Given the description of an element on the screen output the (x, y) to click on. 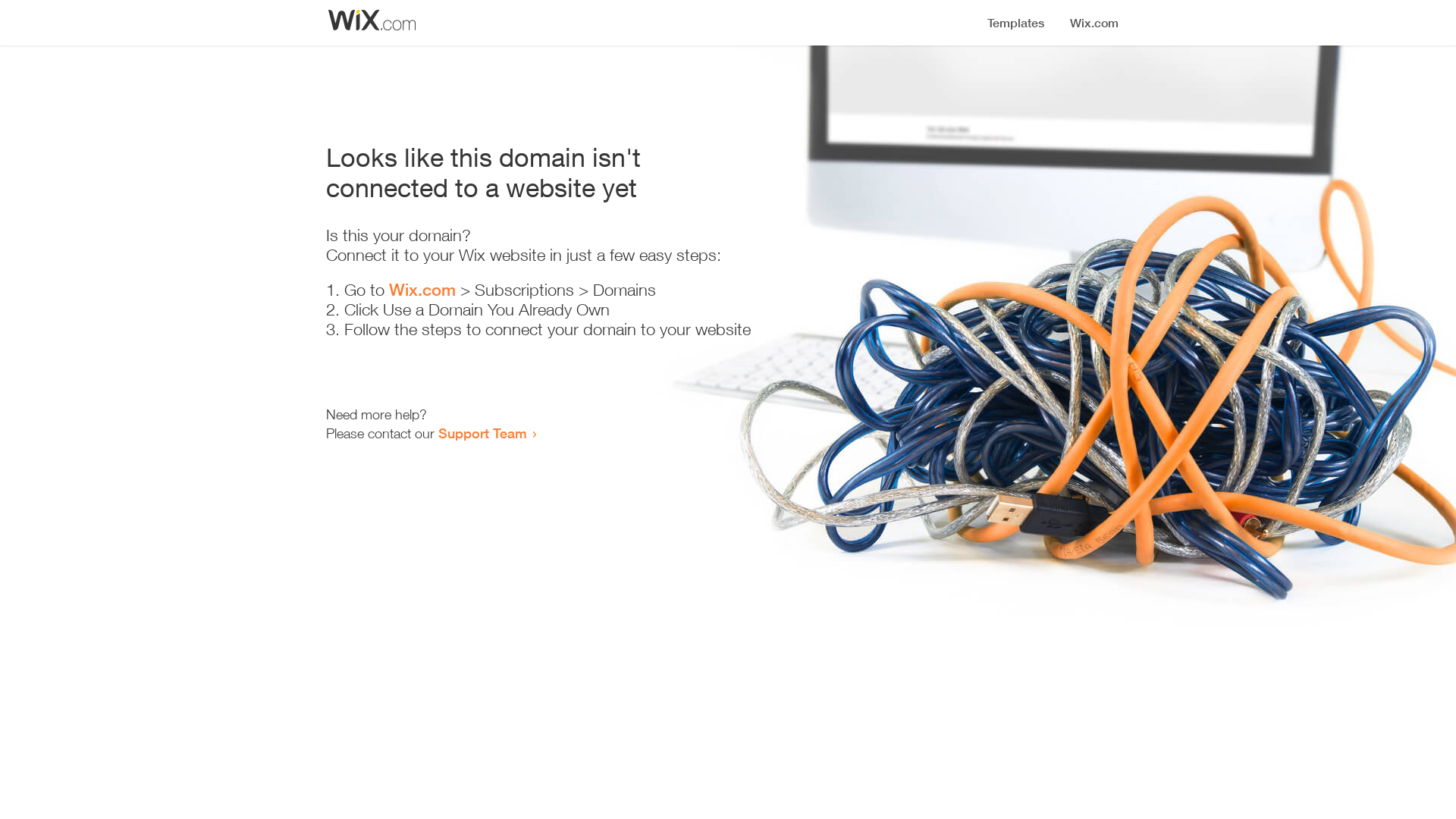
Support Team Element type: text (482, 432)
Wix.com Element type: text (422, 289)
